Given the description of an element on the screen output the (x, y) to click on. 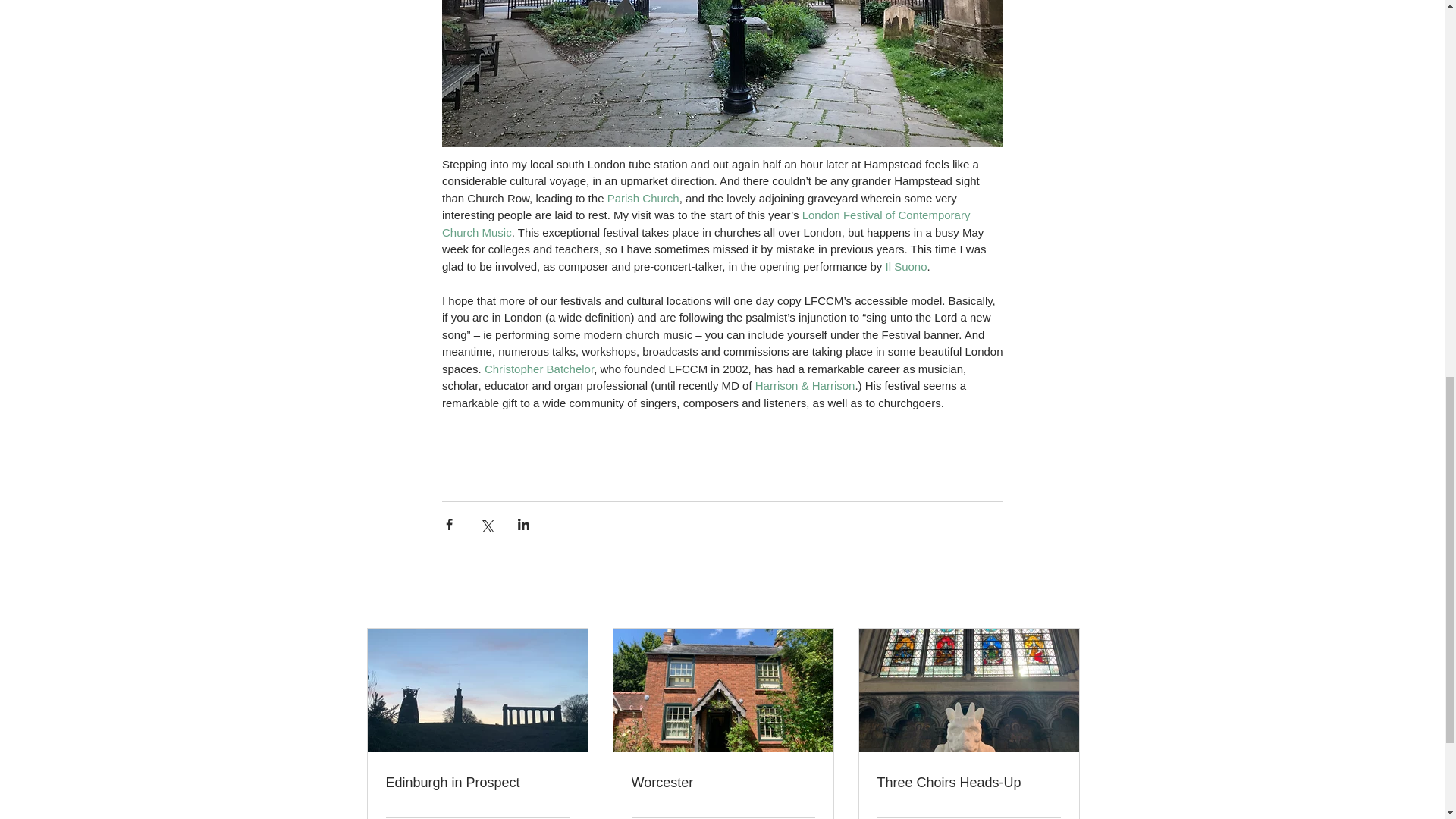
Three Choirs Heads-Up (967, 782)
London Festival of Contemporary Church Music (706, 223)
Il Suono (905, 265)
Worcester (721, 782)
Christopher Batchelor (537, 368)
Parish Church (642, 196)
Edinburgh in Prospect (477, 782)
